Given the description of an element on the screen output the (x, y) to click on. 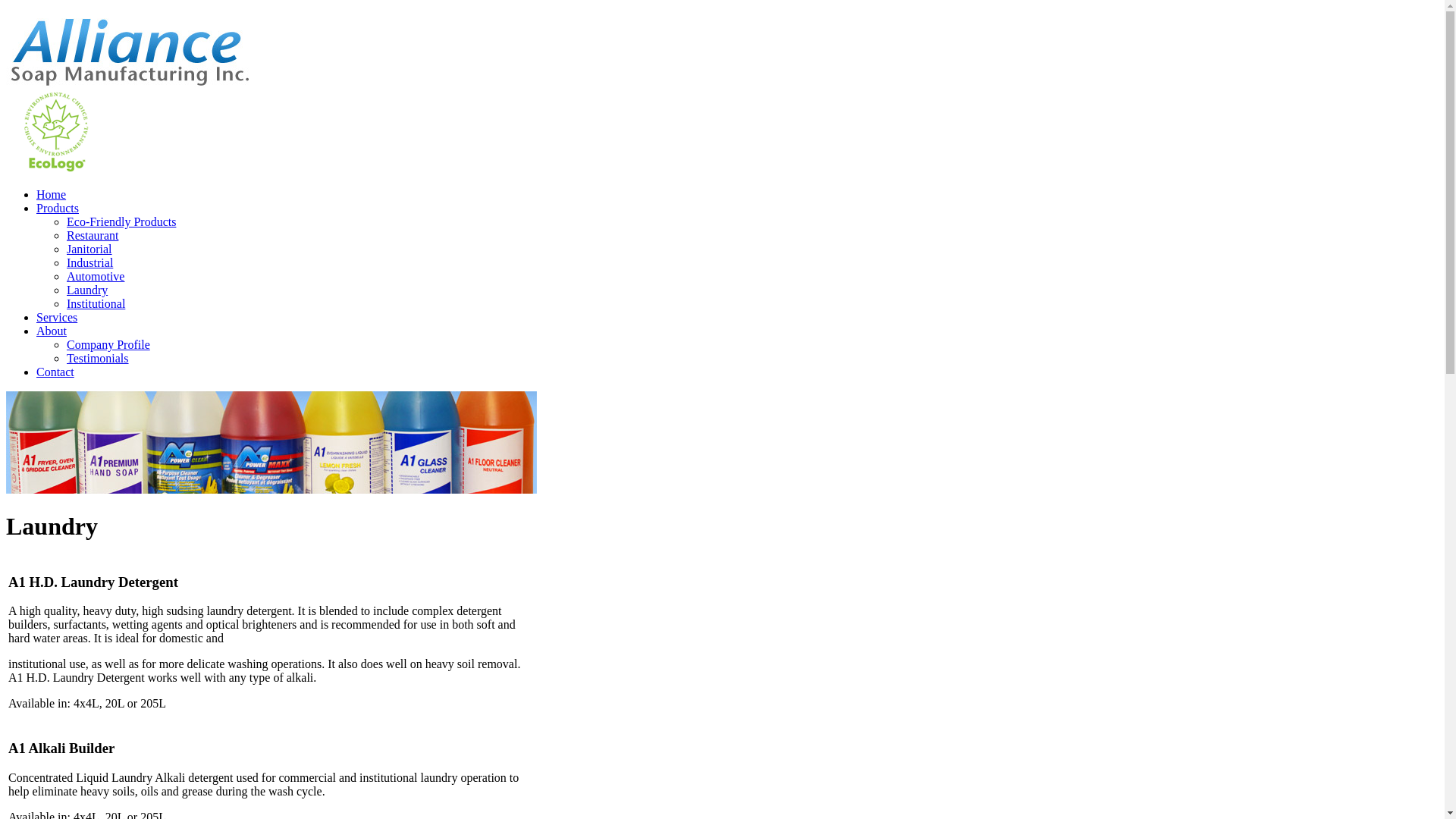
About Element type: text (51, 330)
Institutional Element type: text (95, 303)
Industrial Element type: text (89, 262)
Laundry Element type: text (86, 289)
Janitorial Element type: text (89, 248)
Home Element type: text (50, 194)
Contact Element type: text (55, 371)
Company Profile Element type: text (108, 344)
Restaurant Element type: text (92, 235)
Automotive Element type: text (95, 275)
Testimonials Element type: text (97, 357)
Eco-Friendly Products Element type: text (120, 221)
Services Element type: text (56, 316)
Products Element type: text (57, 207)
